Given the description of an element on the screen output the (x, y) to click on. 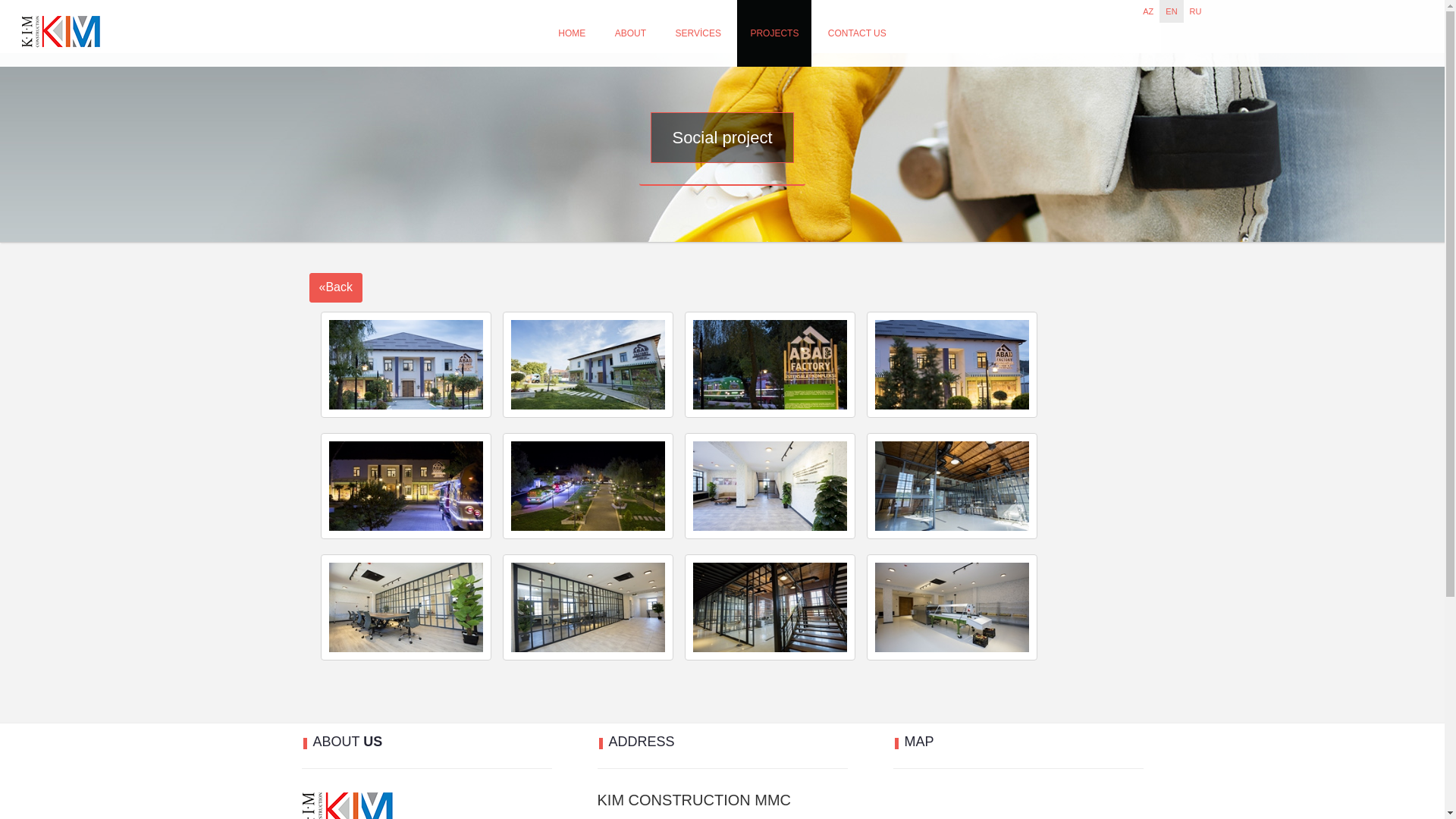
PROJECTS Element type: text (774, 33)
ABOUT Element type: text (630, 33)
AZ Element type: text (1147, 11)
RU Element type: text (1195, 11)
CONTACT US Element type: text (857, 33)
EN Element type: text (1171, 11)
HOME Element type: text (571, 33)
